Given the description of an element on the screen output the (x, y) to click on. 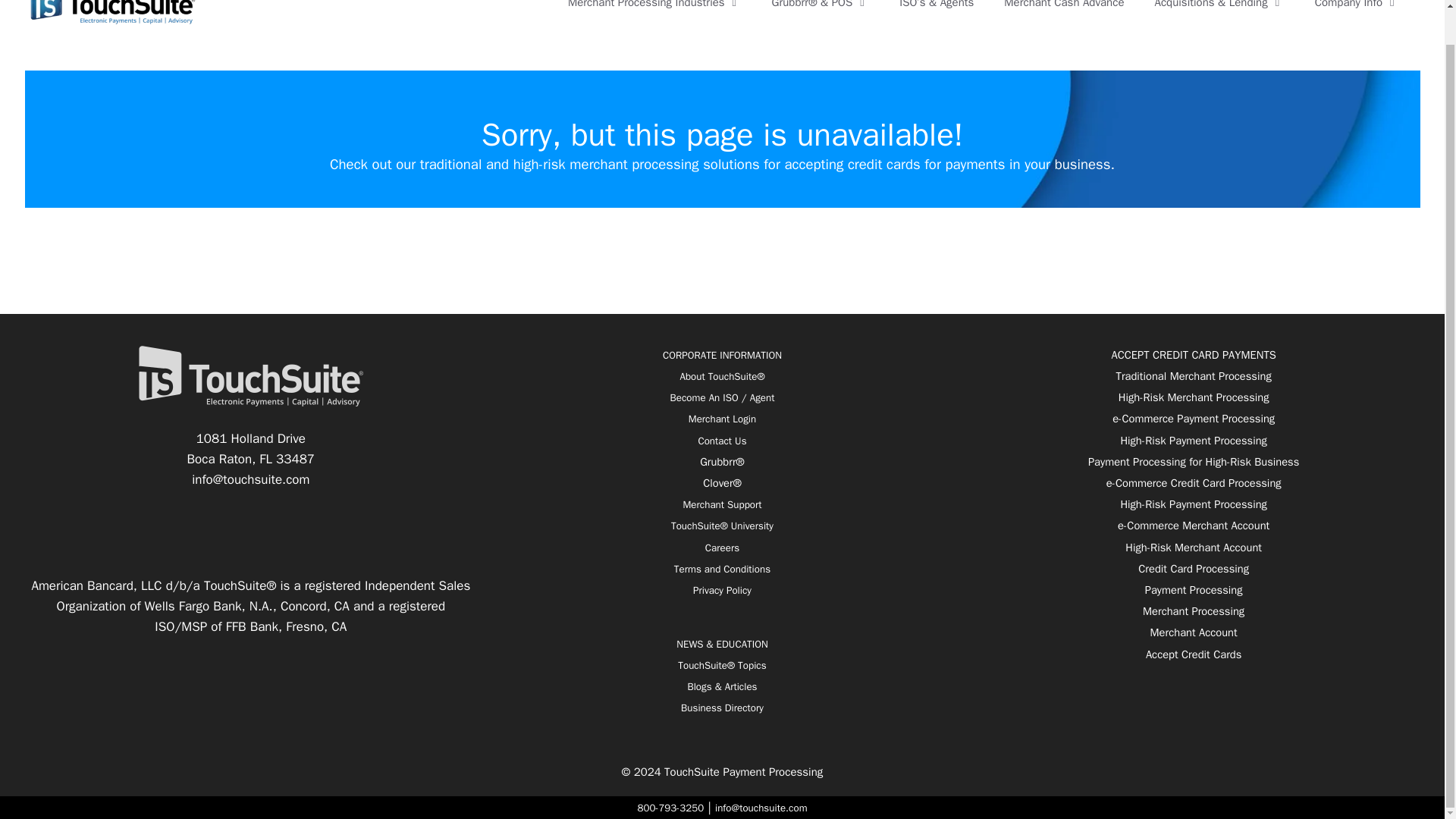
Merchant Login (721, 418)
Merchant Cash Advance (1063, 12)
Company Info (1356, 12)
Merchant Processing Industries (655, 12)
